Given the description of an element on the screen output the (x, y) to click on. 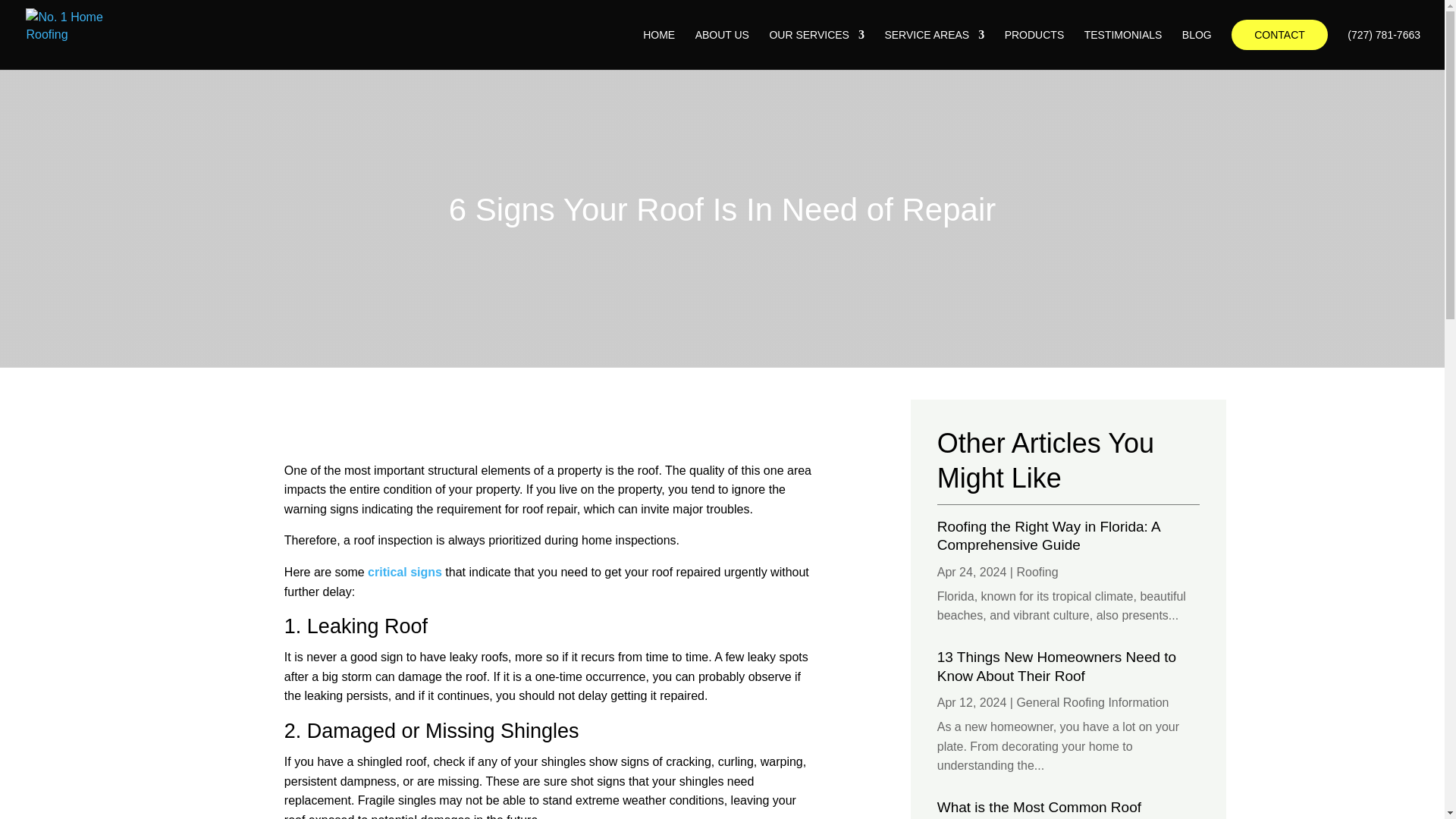
TESTIMONIALS (1122, 49)
OUR SERVICES (816, 49)
SERVICE AREAS (933, 49)
PRODUCTS (1034, 49)
ABOUT US (722, 49)
